Given the description of an element on the screen output the (x, y) to click on. 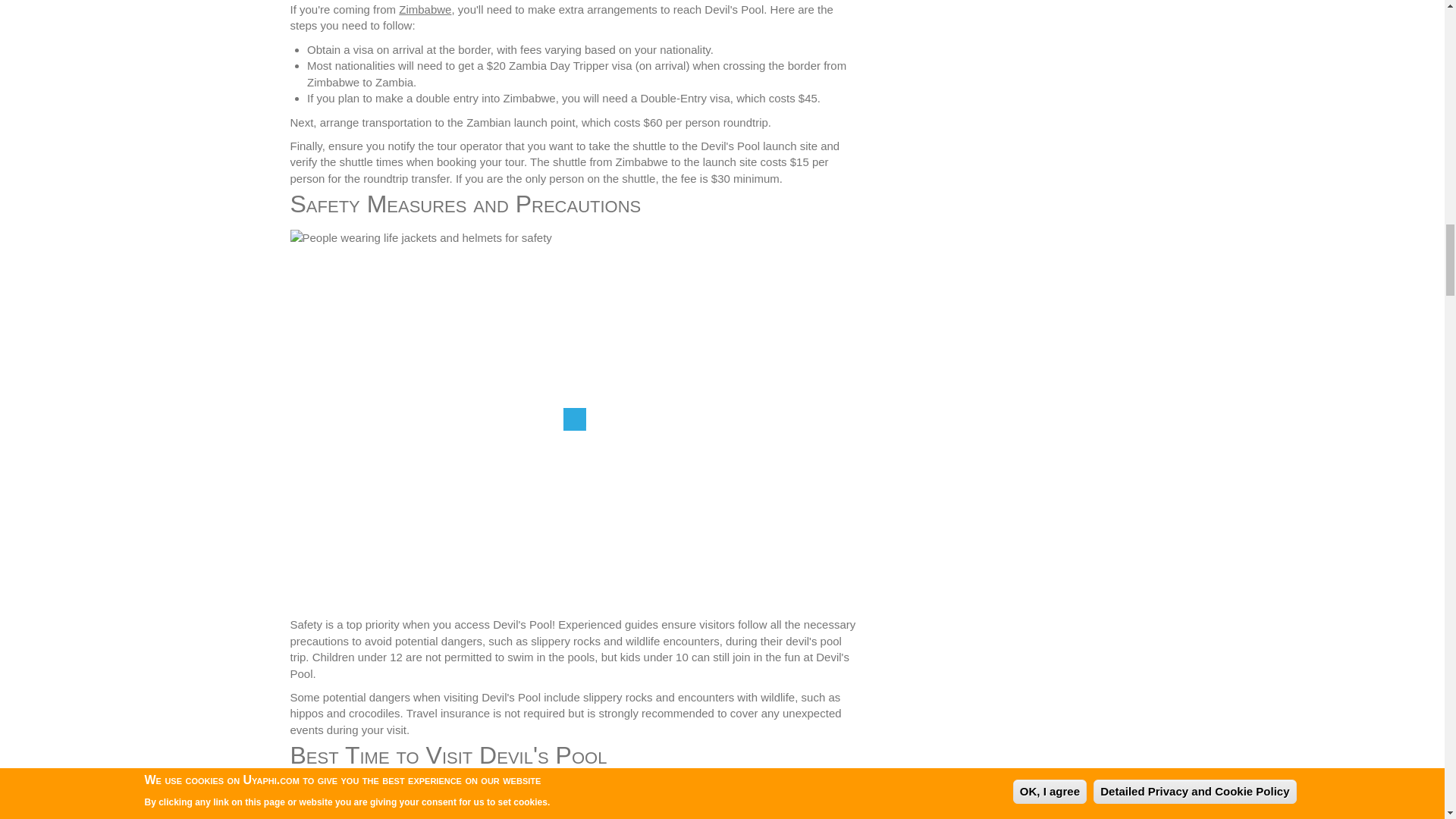
Zimbabwe (424, 9)
